Given the description of an element on the screen output the (x, y) to click on. 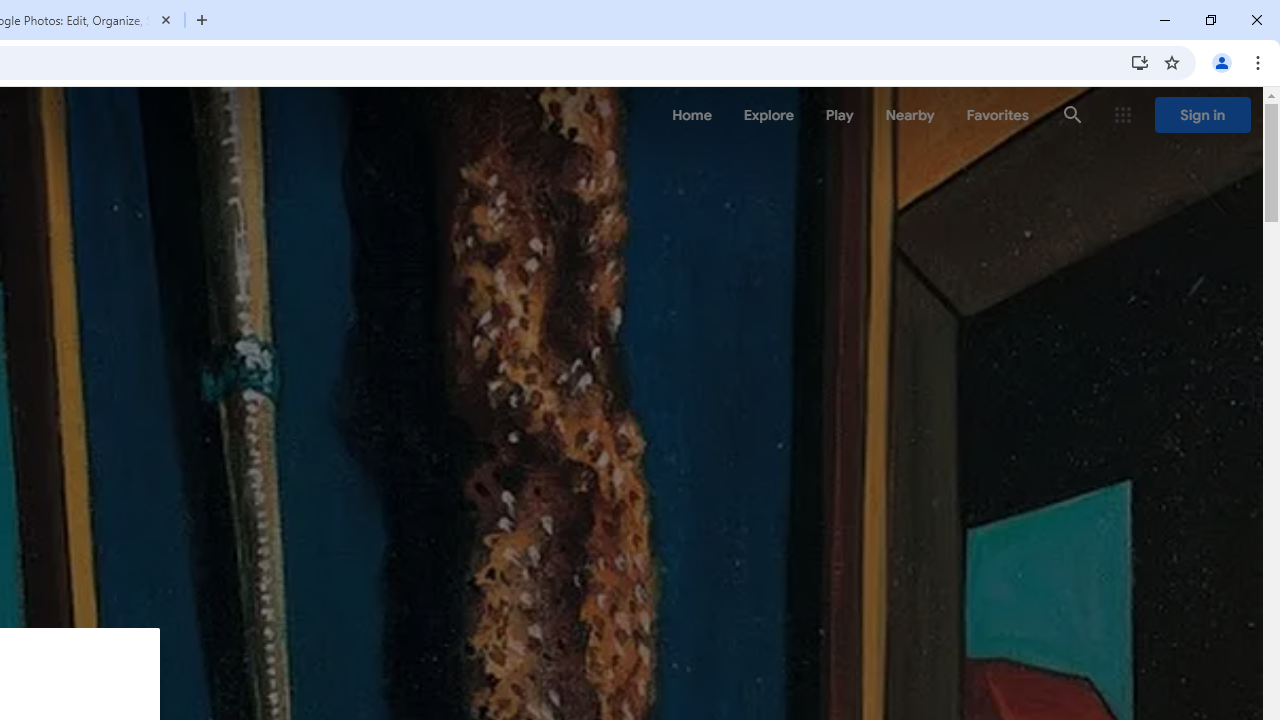
Nearby (910, 115)
Play (840, 115)
Home (691, 115)
Explore (768, 115)
Favorites (996, 115)
